Given the description of an element on the screen output the (x, y) to click on. 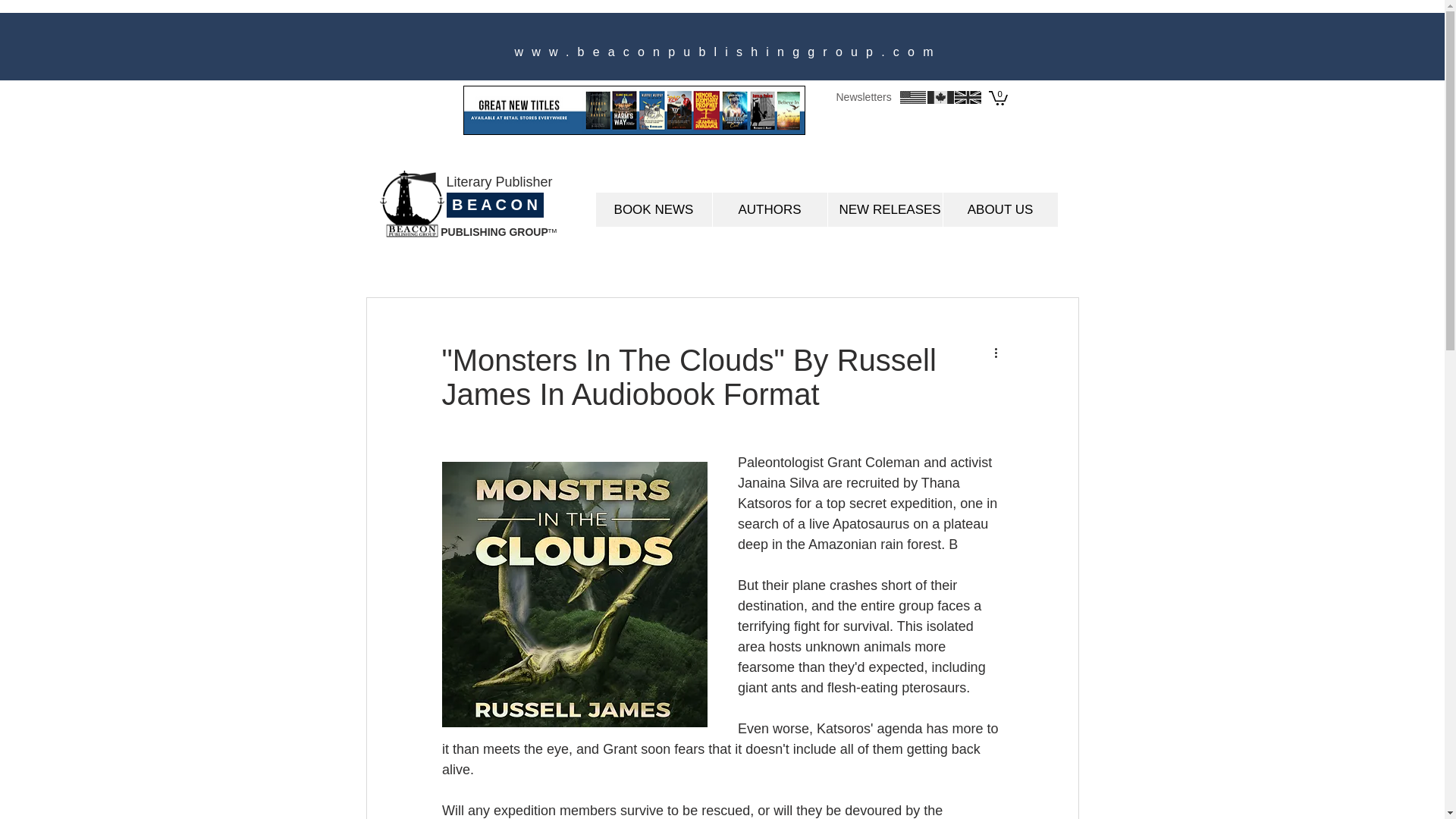
BOOK NEWS (653, 209)
0 (997, 97)
NEW RELEASES (884, 209)
ABOUT US (999, 209)
Newsletters (863, 96)
B E A C O N (494, 204)
www.beaconpublishinggroup.com (726, 51)
AUTHORS (769, 209)
0 (997, 97)
